Given the description of an element on the screen output the (x, y) to click on. 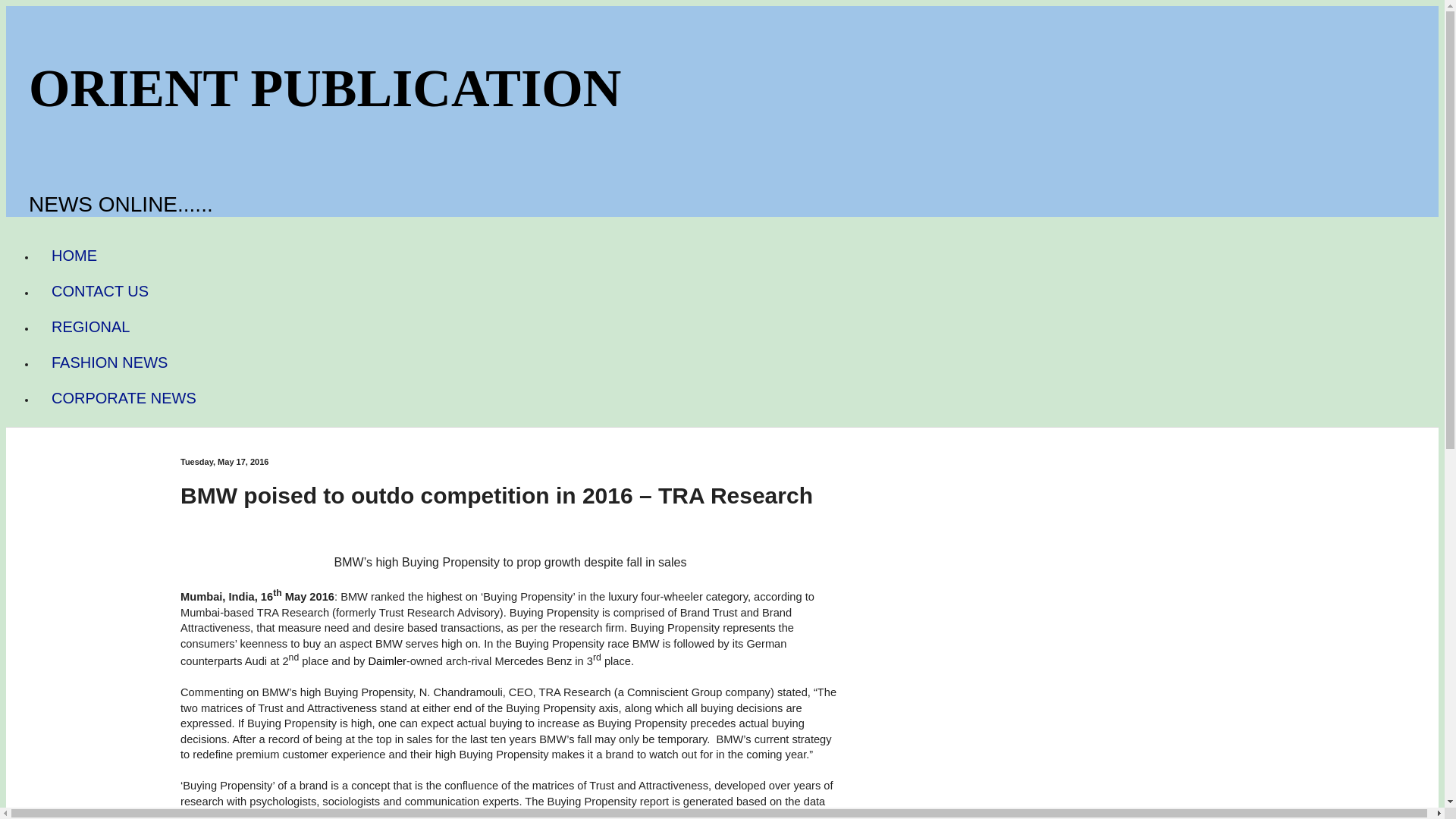
Daimler (387, 661)
HOME (74, 255)
CORPORATE NEWS (123, 398)
ORIENT PUBLICATION (325, 87)
FASHION NEWS (109, 362)
REGIONAL (90, 326)
CONTACT US (99, 291)
